Given the description of an element on the screen output the (x, y) to click on. 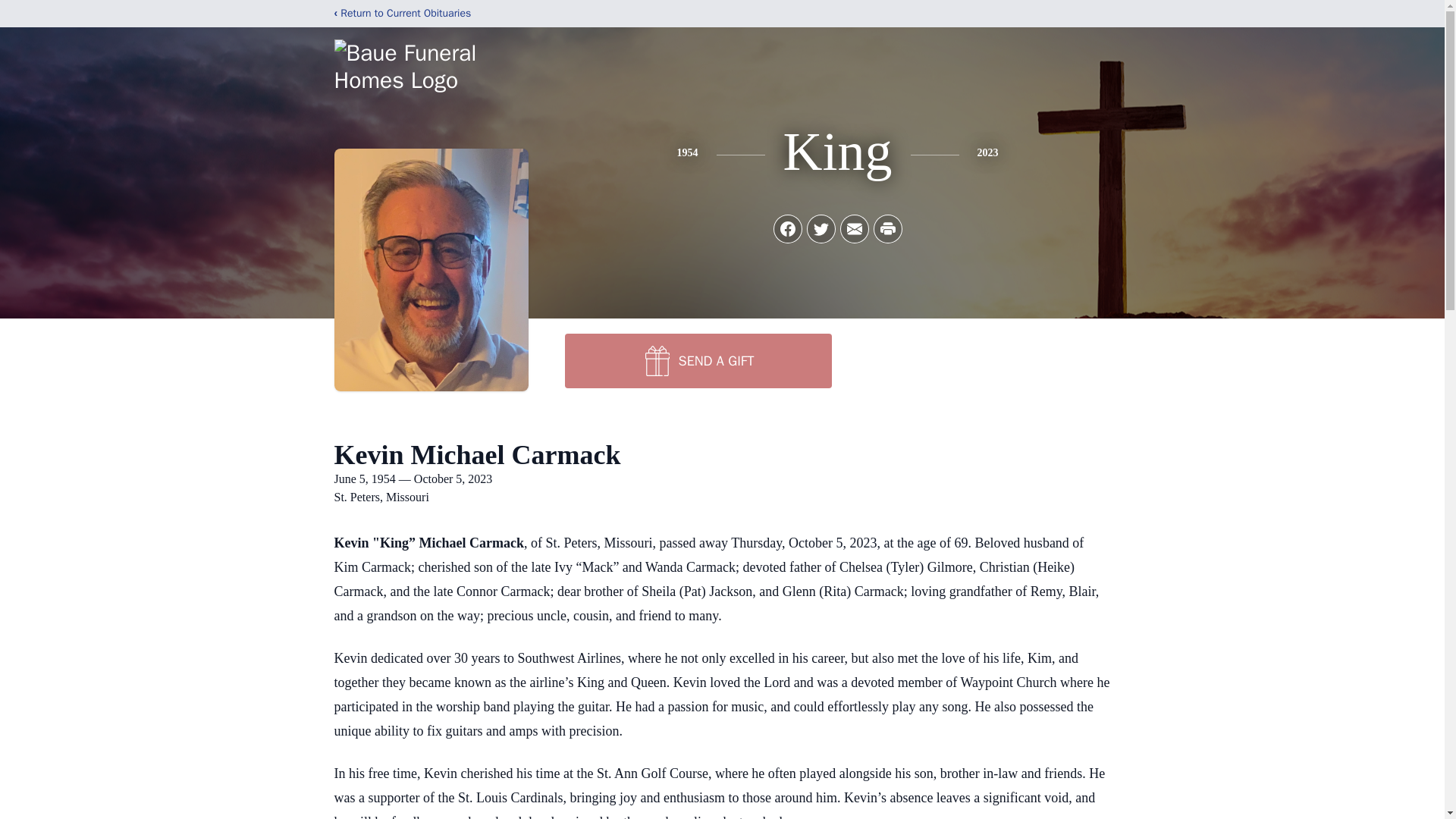
SEND A GIFT (697, 360)
